Given the description of an element on the screen output the (x, y) to click on. 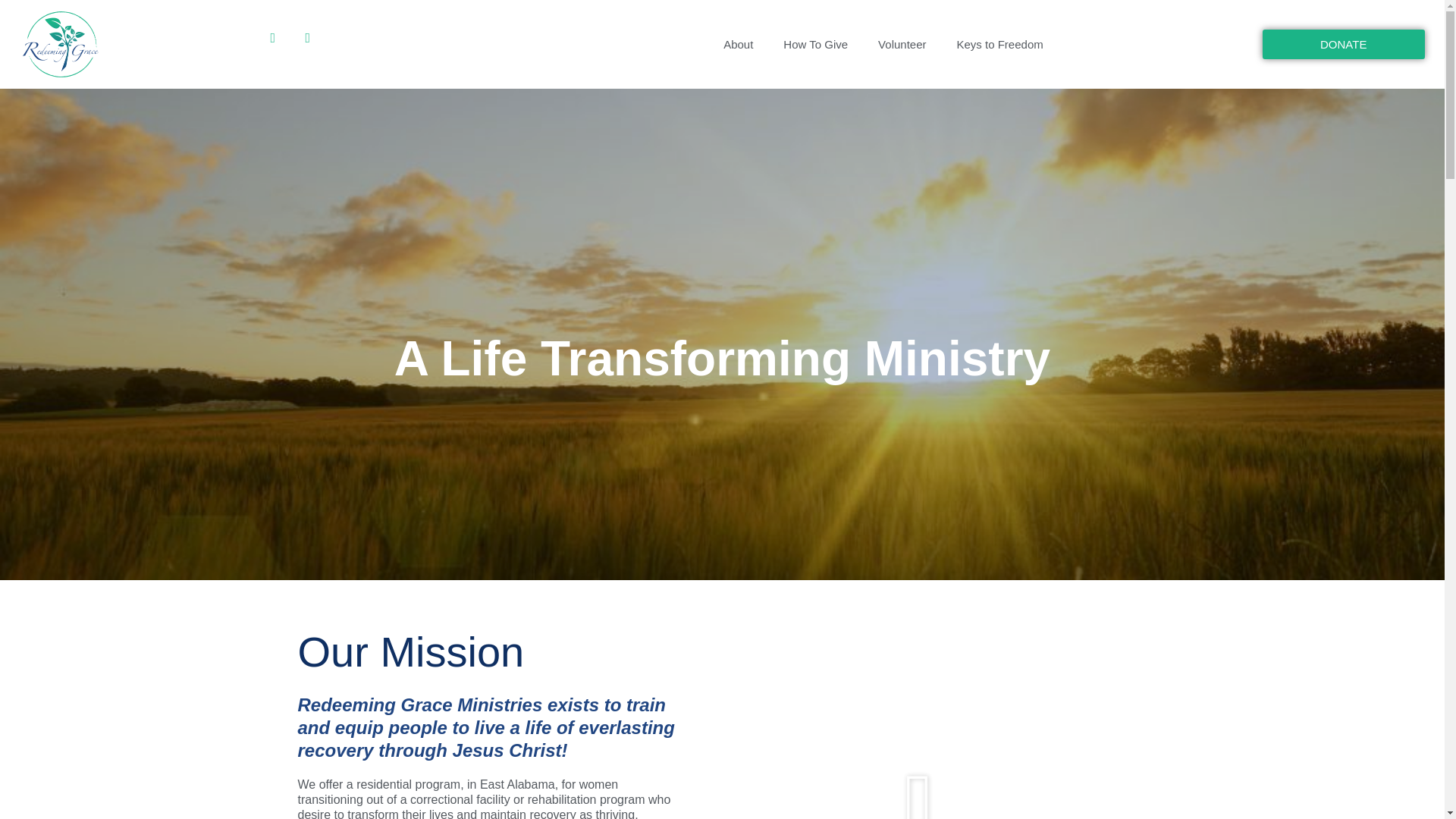
Volunteer (901, 44)
Keys to Freedom (1000, 44)
About (737, 44)
How To Give (815, 44)
DONATE (1343, 43)
